Given the description of an element on the screen output the (x, y) to click on. 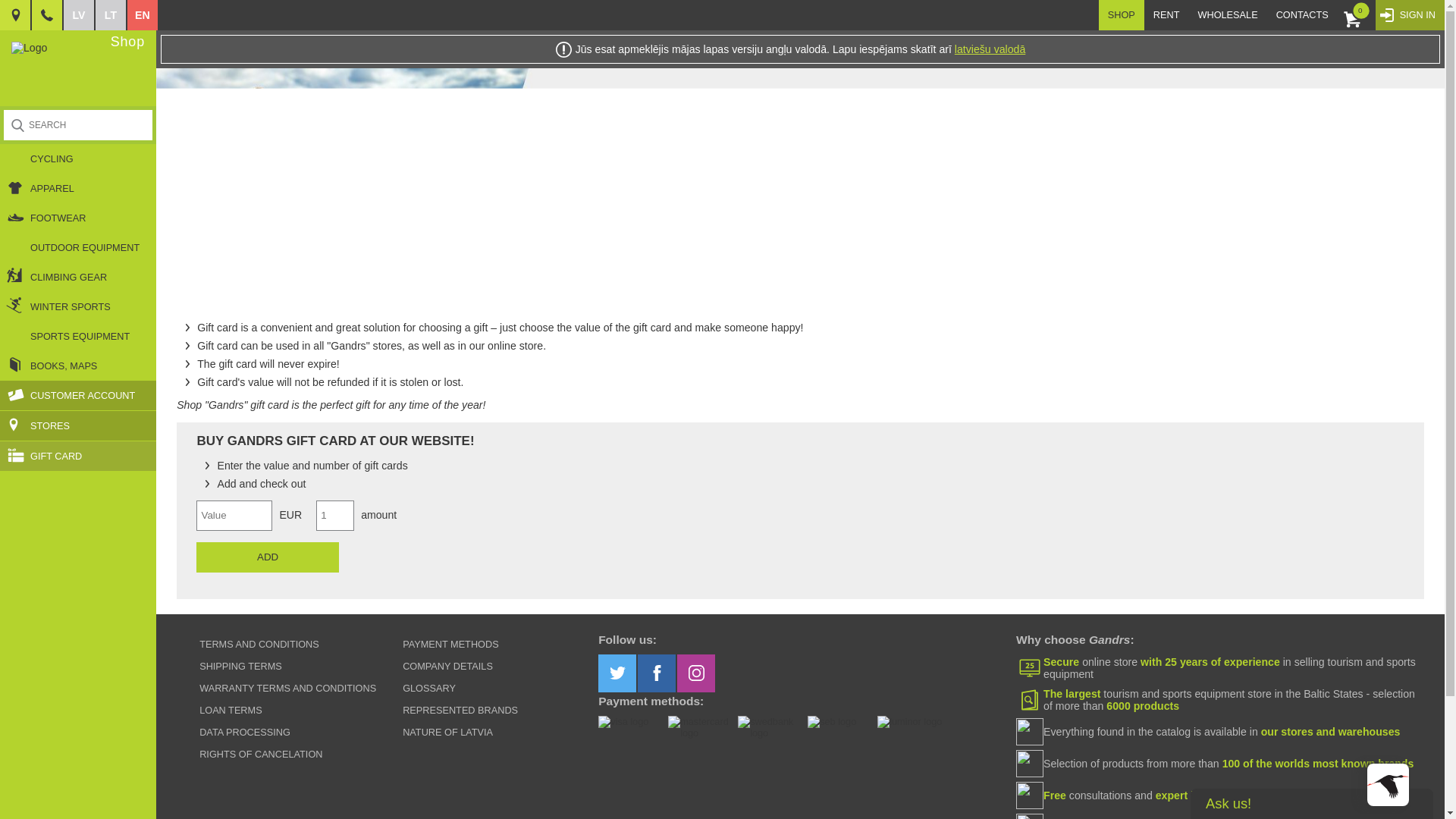
CONTACTS (1302, 15)
Call us (47, 15)
LT (110, 15)
CYCLING (77, 158)
Add (266, 557)
EN (142, 15)
RENT (1166, 15)
Facebook (656, 673)
Back to start (28, 47)
0 (1356, 15)
WHOLESALE (1227, 15)
Twitter (617, 673)
SHOP (1121, 15)
Instragram (695, 673)
Contacts (15, 15)
